Given the description of an element on the screen output the (x, y) to click on. 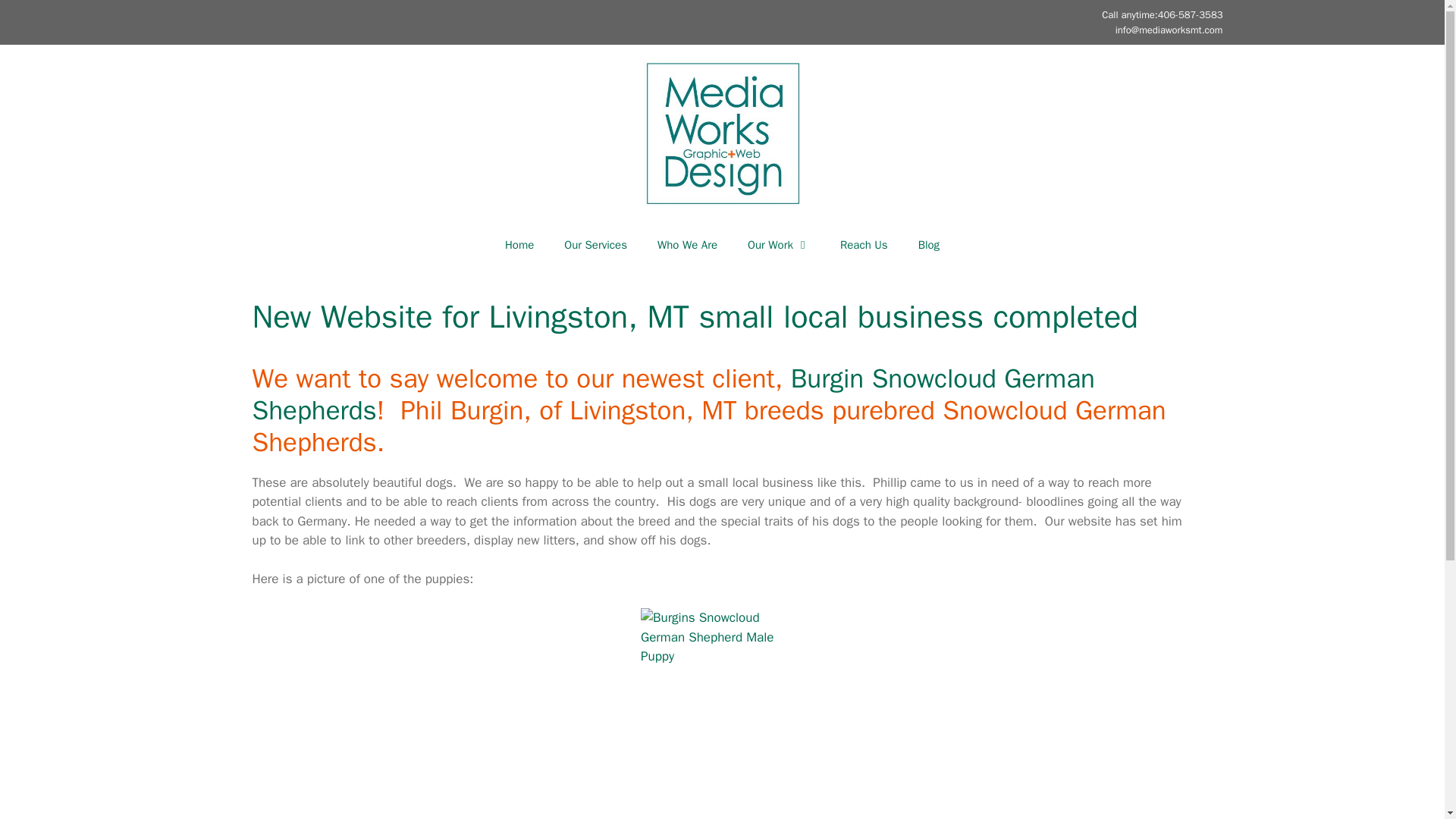
Burgin Snowcloud German Shepherds (672, 393)
Who We Are (687, 244)
Our Work (778, 244)
Home (518, 244)
Our Services (595, 244)
Reach Us (863, 244)
Burgin Snowcloud German Shepherds (672, 393)
Blog (928, 244)
